Given the description of an element on the screen output the (x, y) to click on. 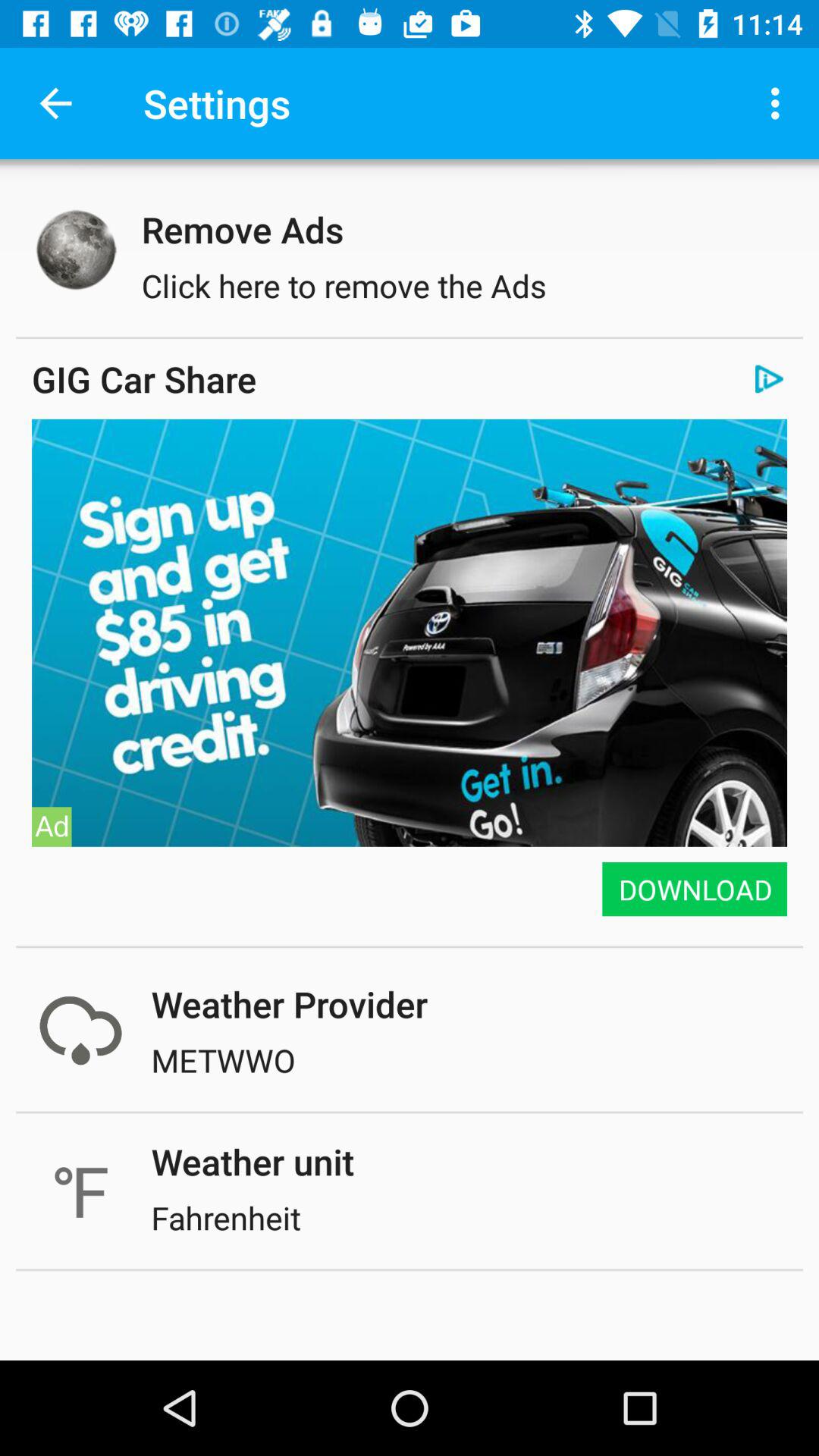
press the icon next to settings (55, 103)
